Given the description of an element on the screen output the (x, y) to click on. 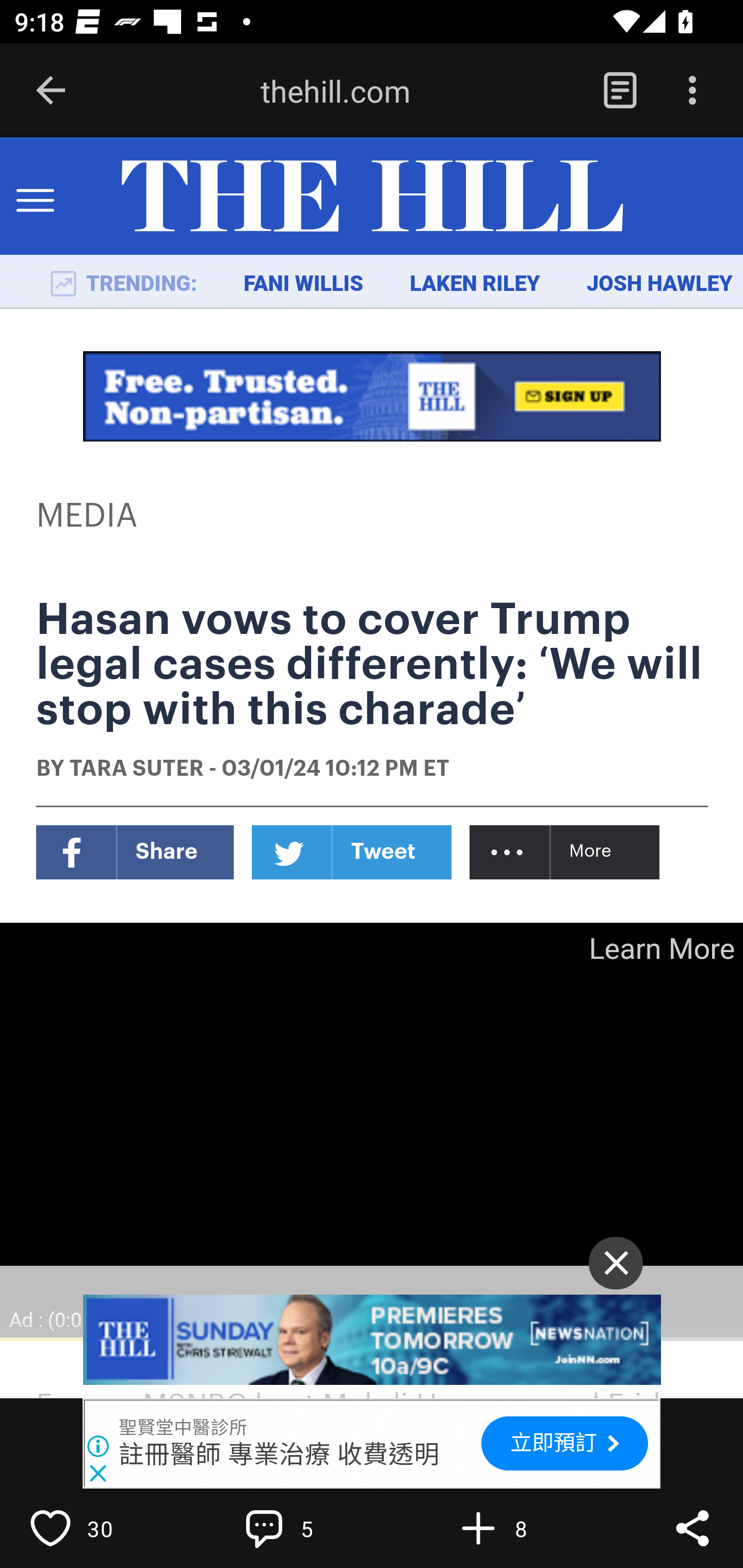
Back (50, 90)
Reader View (619, 90)
Options (692, 90)
Toggle Menu (34, 196)
TheHill.com (371, 196)
FANI WILLIS (303, 284)
LAKEN RILEY (474, 284)
JOSH HAWLEY (659, 284)
signup (372, 395)
MEDIA (87, 516)
TARA SUTER (135, 769)
Facebook Share Facebook Share (135, 852)
Twitter Tweet Twitter Tweet (352, 852)
... More (565, 852)
Advertisement Learn More Ad : (0:06)    (371, 1130)
Advertisement (371, 1130)
Learn More (660, 948)
✕ (616, 1262)
channel-finder (372, 1339)
聖賢堂中醫診所 (183, 1427)
立即預訂 (564, 1442)
註冊醫師 專業治療 收費透明 (279, 1453)
Like 30 (93, 1528)
Write a comment… 5 (307, 1528)
Flip into Magazine 8 (521, 1528)
Share (692, 1528)
